Given the description of an element on the screen output the (x, y) to click on. 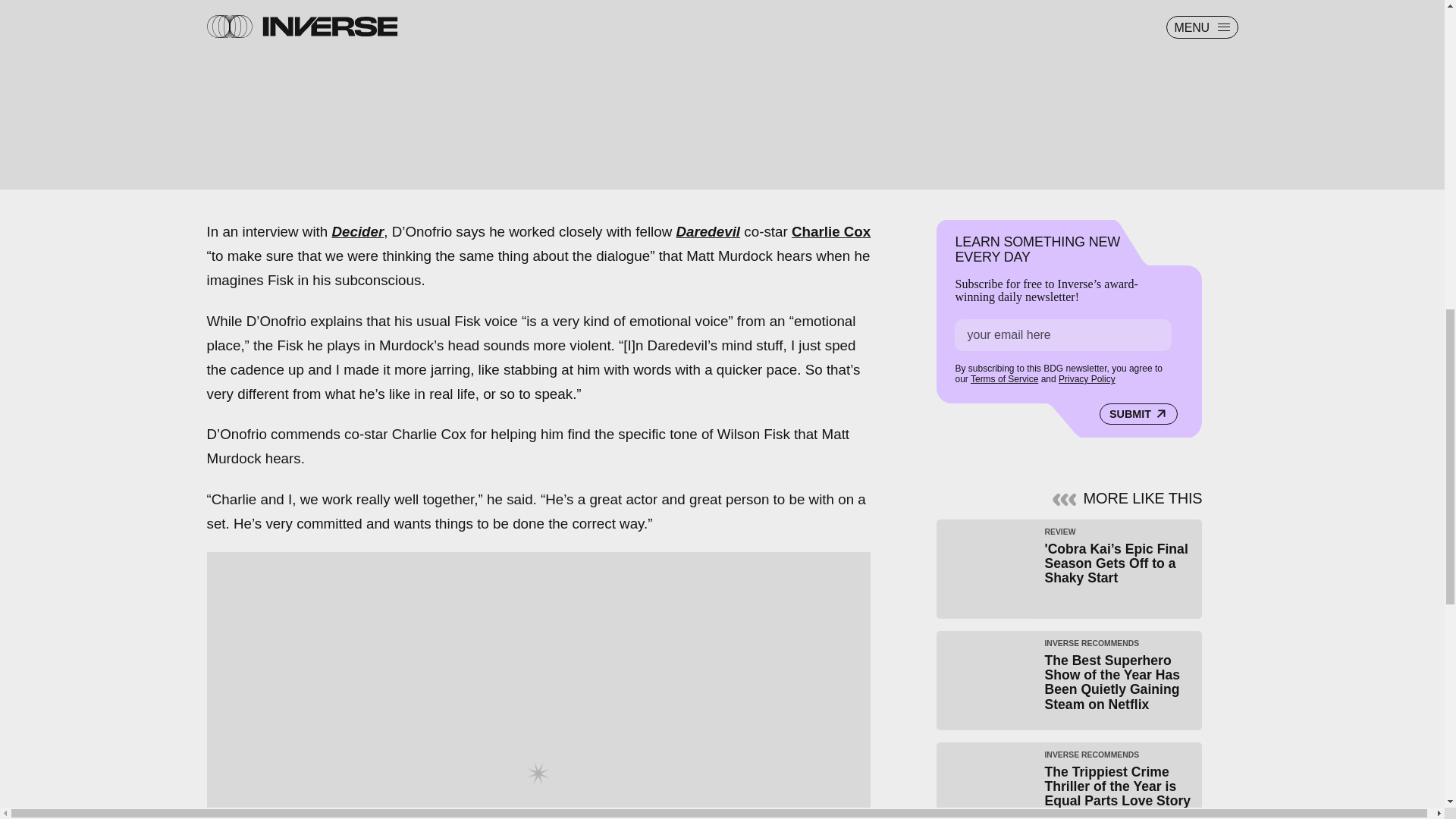
Privacy Policy (1086, 378)
Decider (357, 231)
SUBMIT (1138, 414)
Charlie Cox (831, 231)
Terms of Service (1004, 378)
Daredevil (709, 231)
